Given the description of an element on the screen output the (x, y) to click on. 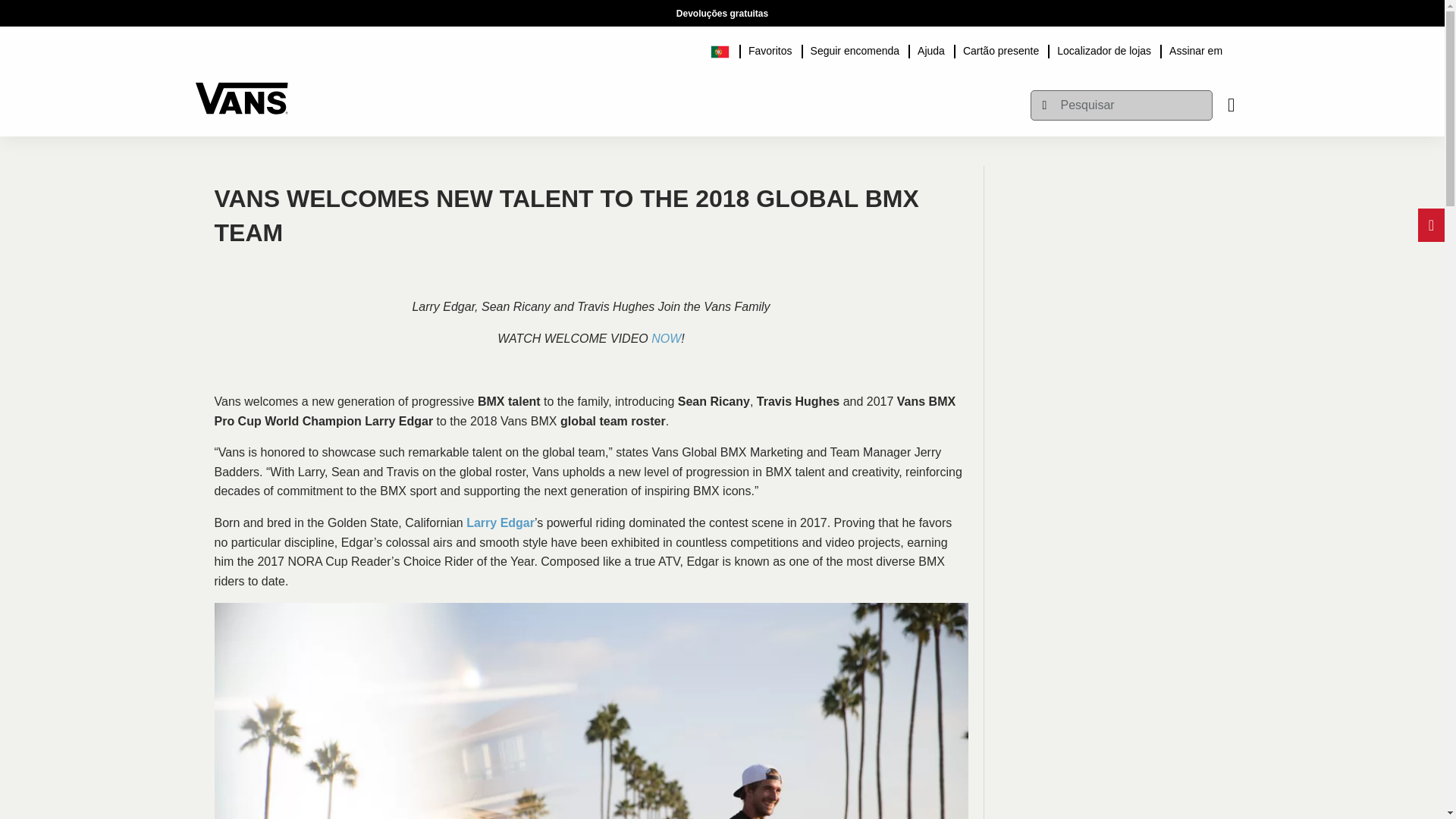
Seguir encomenda (855, 48)
Ajuda (930, 48)
Seguir encomenda (855, 48)
Portugal (724, 48)
Ajuda (930, 48)
Vans (241, 91)
Localizador de lojas (1104, 48)
Skip to main content (202, 7)
Localizador de lojas (1104, 48)
Assinar em (1195, 48)
